Given the description of an element on the screen output the (x, y) to click on. 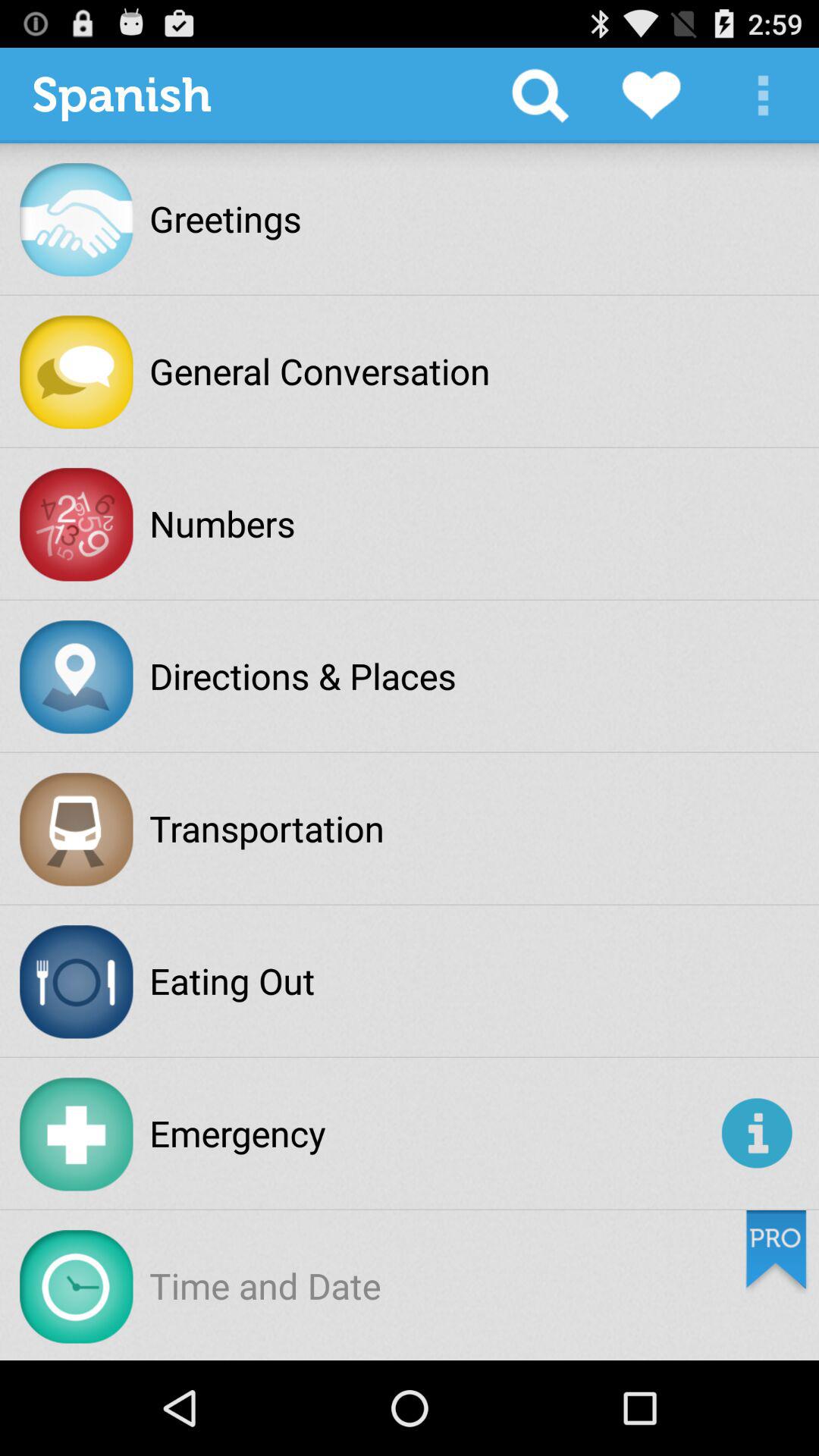
select the app above the general conversation item (540, 95)
